Given the description of an element on the screen output the (x, y) to click on. 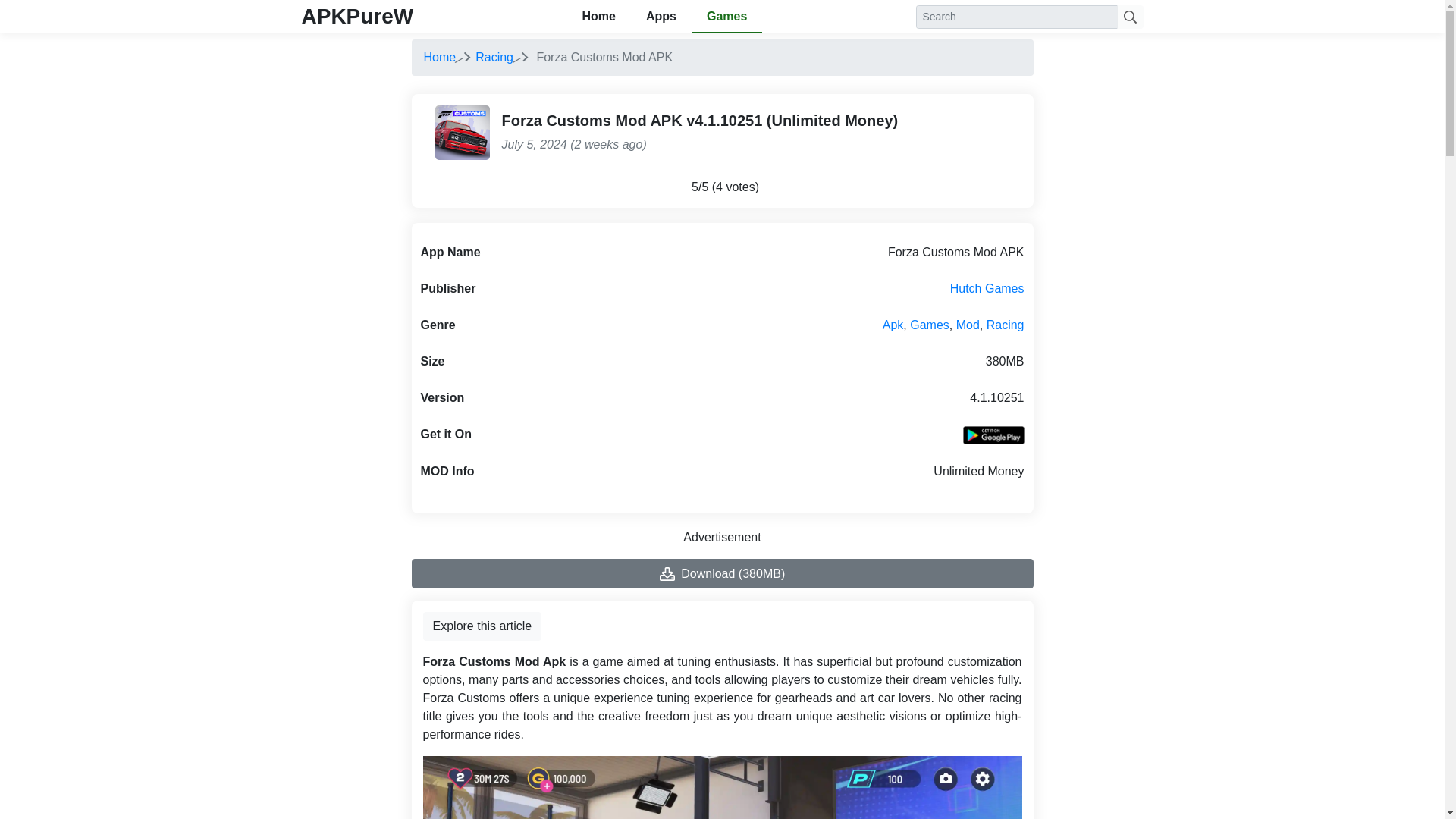
Mod (967, 324)
APKPureW (357, 15)
Home (439, 56)
Hutch Games (987, 287)
Games (726, 16)
Apk (893, 324)
Apps (660, 16)
Home (439, 56)
Home (598, 16)
Racing (494, 56)
Racing (1006, 324)
Games (929, 324)
Explore this article (482, 625)
